Given the description of an element on the screen output the (x, y) to click on. 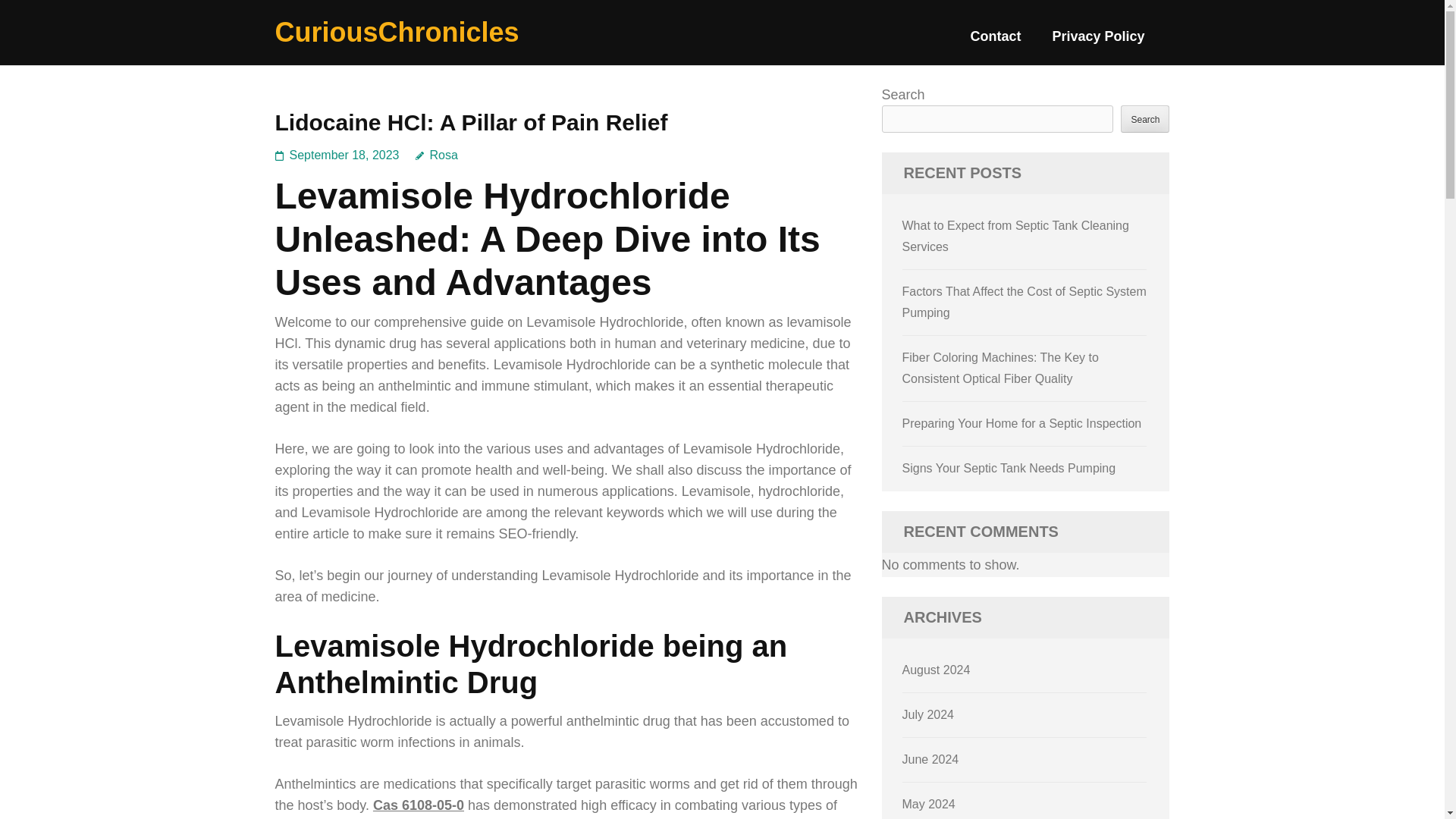
June 2024 (930, 758)
Preparing Your Home for a Septic Inspection (1021, 422)
CuriousChronicles (396, 31)
Search (1145, 118)
August 2024 (936, 669)
Privacy Policy (1097, 42)
Contact (994, 42)
May 2024 (928, 803)
Rosa (436, 154)
